Given the description of an element on the screen output the (x, y) to click on. 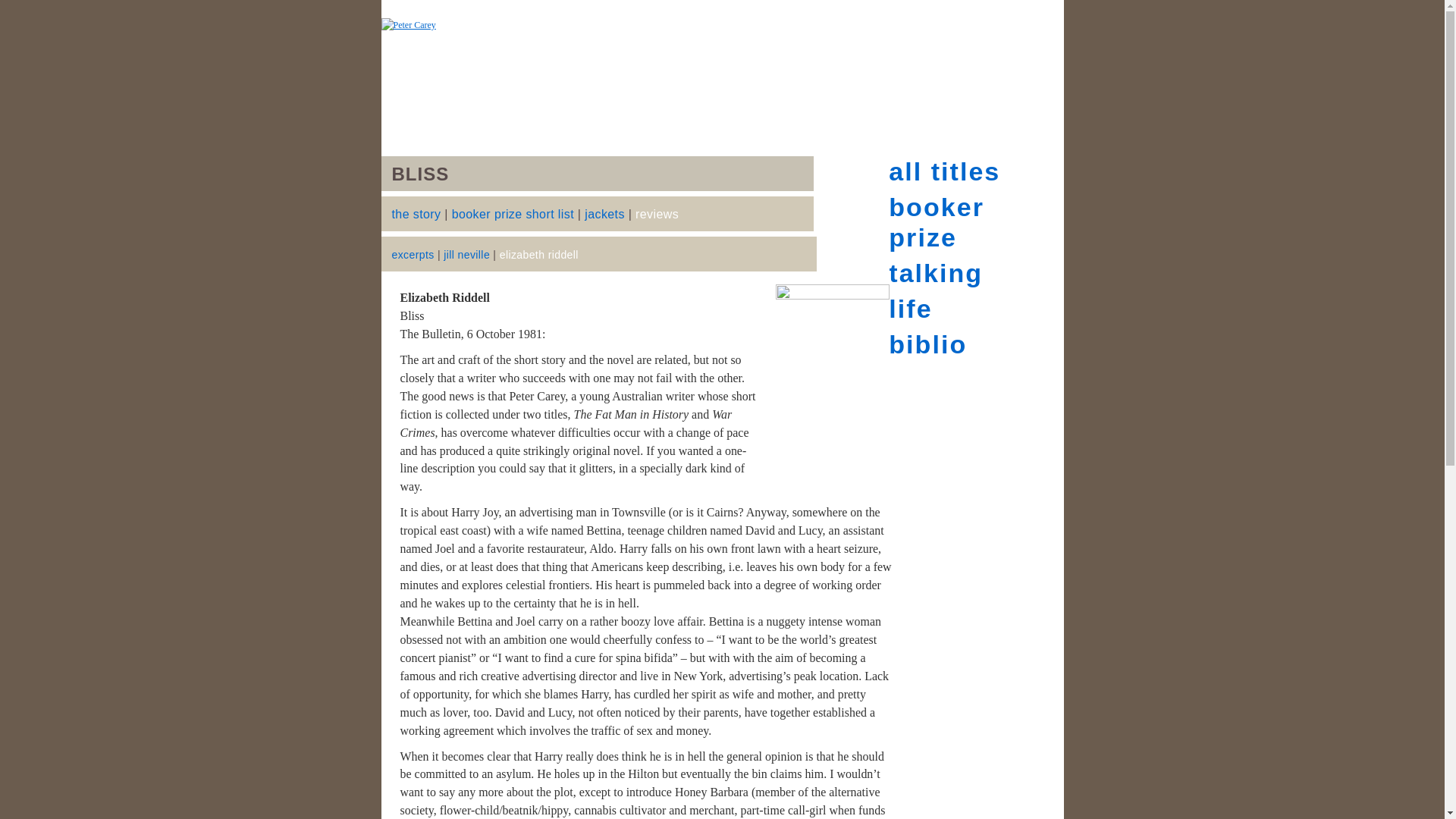
jackets (604, 214)
booker prize (936, 221)
excerpts (412, 254)
the story (416, 214)
life (909, 308)
talking (935, 272)
jill neville (466, 254)
booker prize short list (512, 214)
biblio (927, 344)
Peter Carey (721, 56)
